Given the description of an element on the screen output the (x, y) to click on. 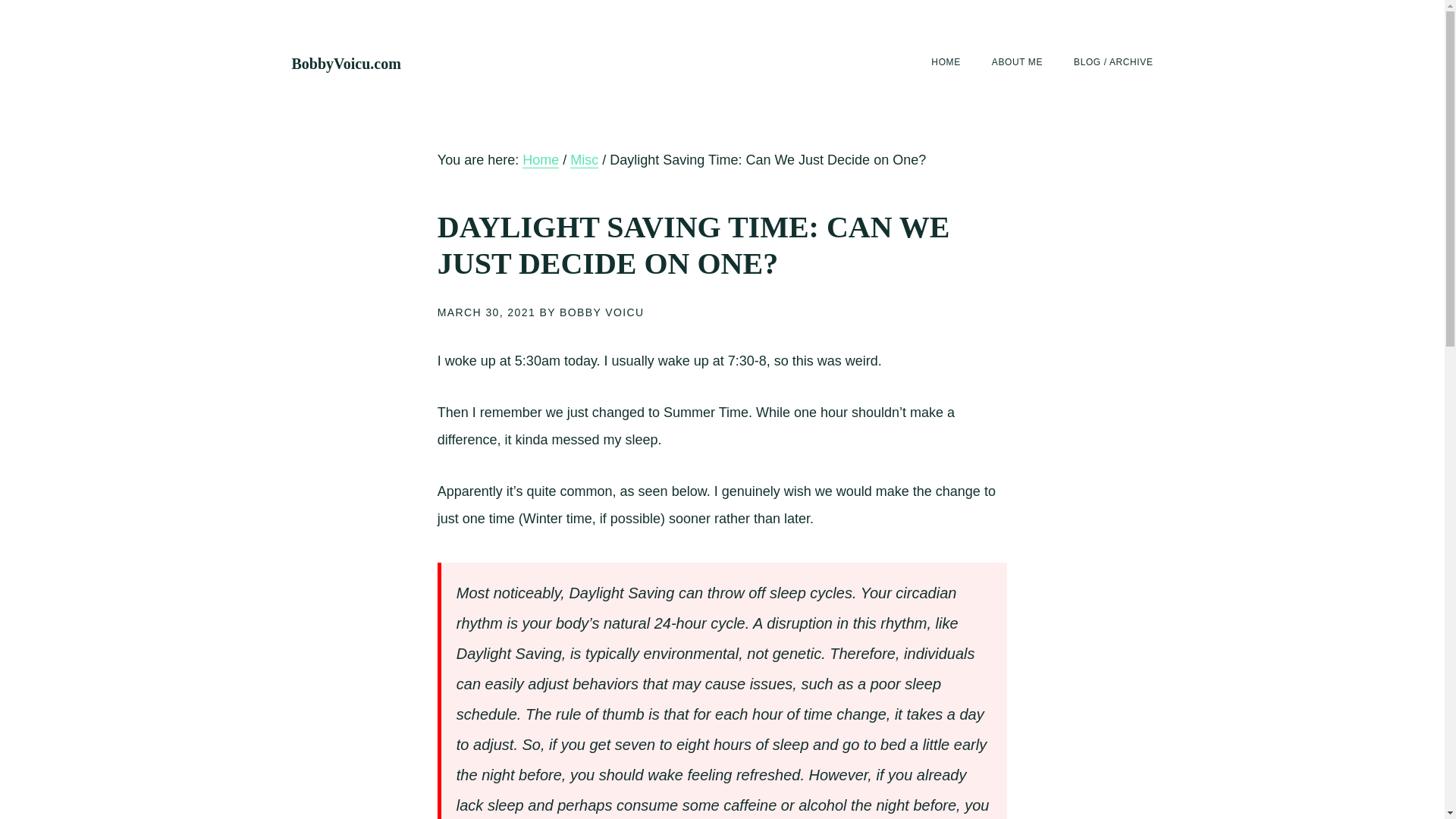
Misc (584, 160)
ABOUT ME (1016, 62)
BobbyVoicu.com (345, 63)
Home (540, 160)
HOME (945, 62)
